Given the description of an element on the screen output the (x, y) to click on. 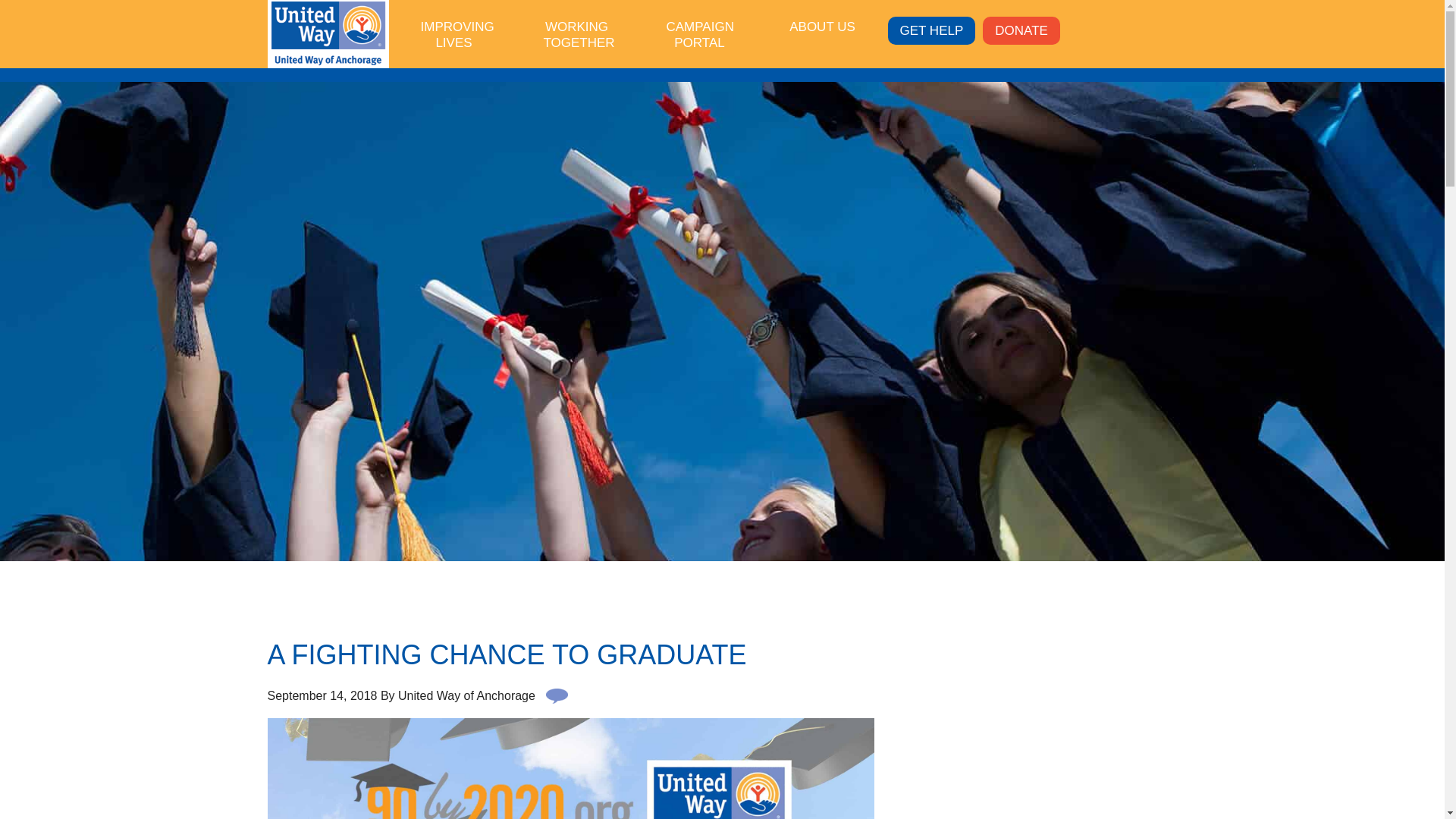
United Way of Anchorage (327, 34)
CAMPAIGN PORTAL (699, 33)
WORKING TOGETHER (575, 33)
IMPROVING LIVES (453, 33)
